Given the description of an element on the screen output the (x, y) to click on. 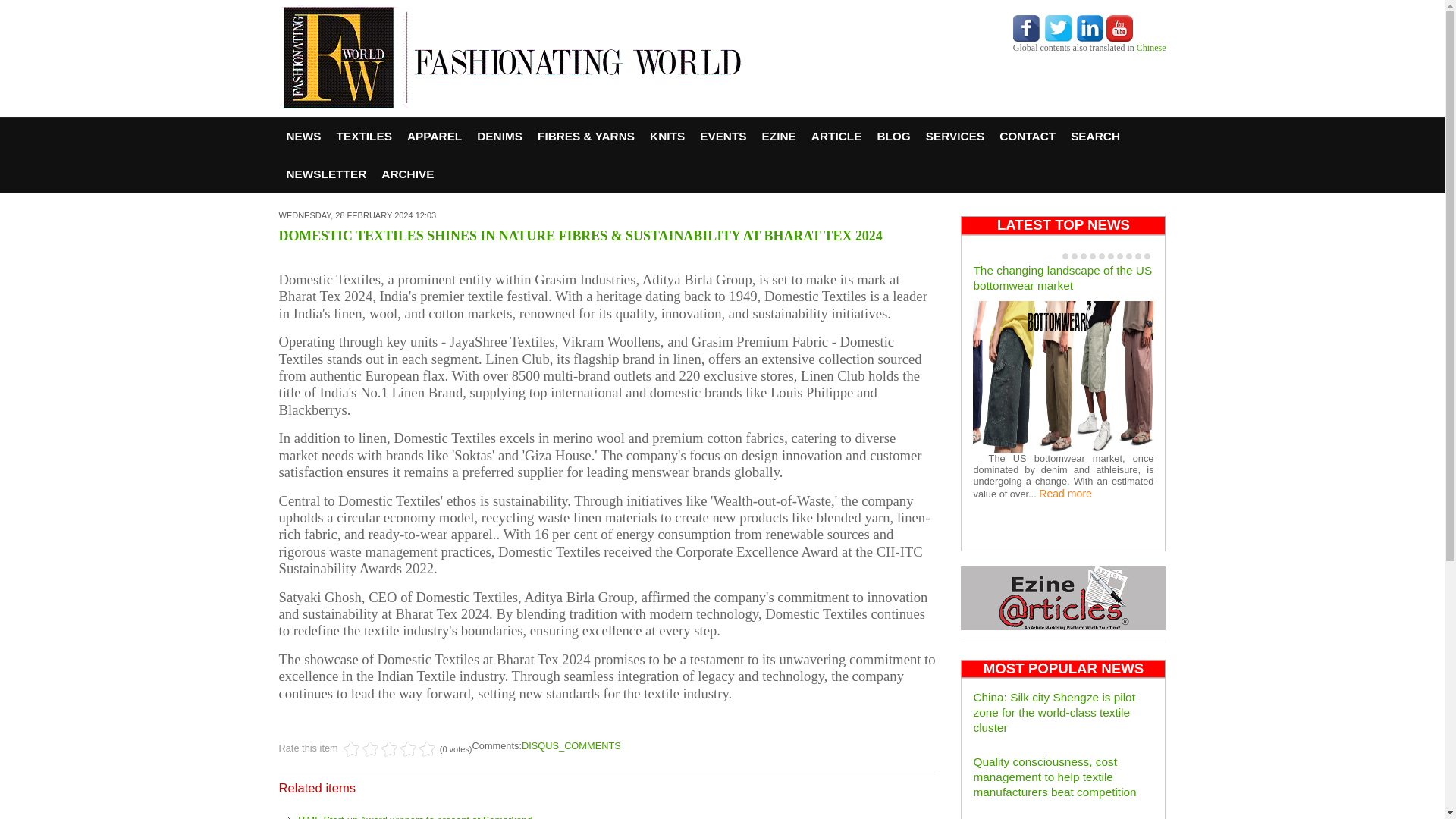
SERVICES (954, 136)
EVENTS (723, 136)
1 star out of 5 (351, 749)
TEXTILES (363, 136)
2 (361, 749)
KNITS (667, 136)
Chinese (1151, 47)
EZINE (778, 136)
CONTACT (1026, 136)
